Given the description of an element on the screen output the (x, y) to click on. 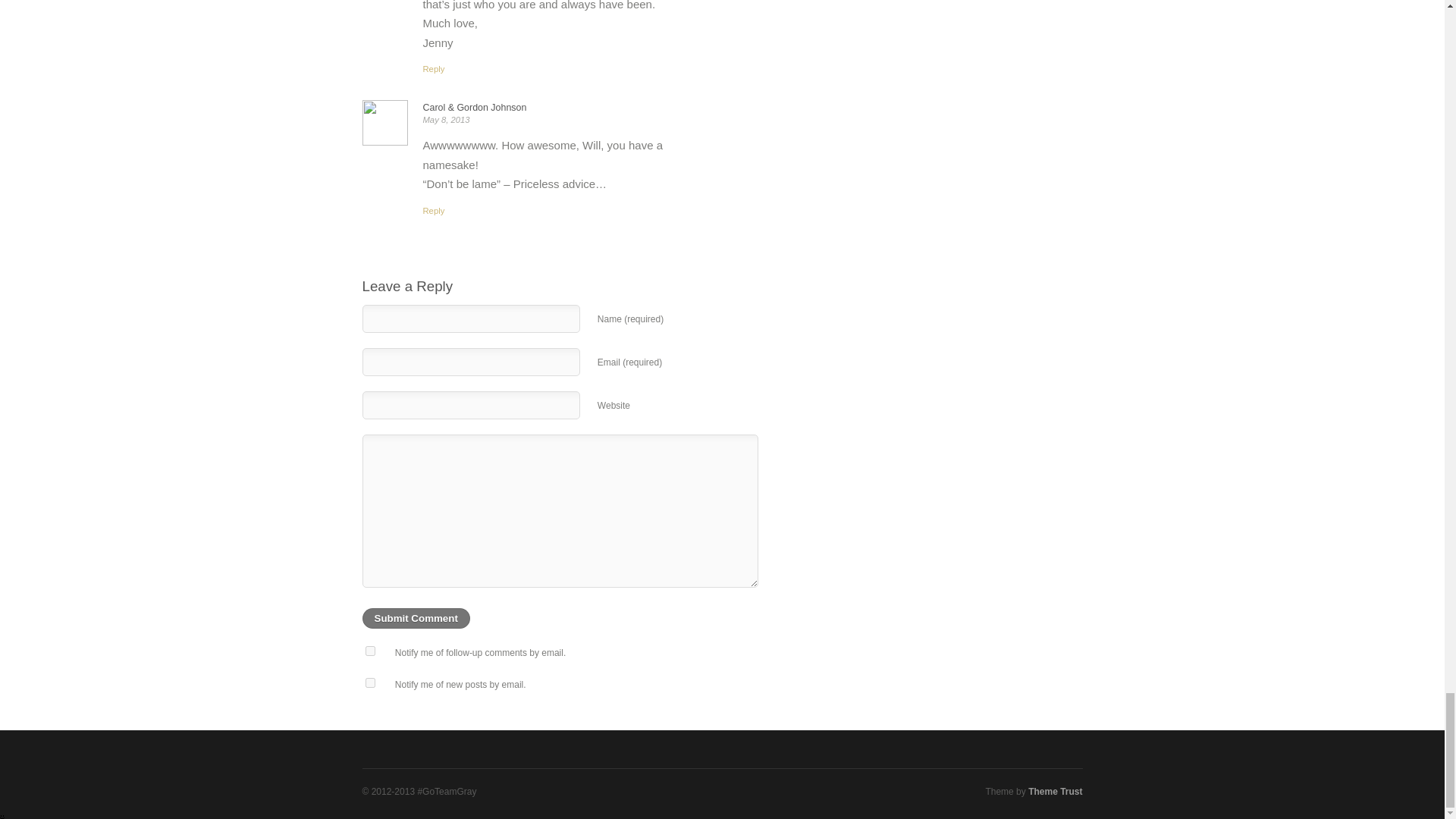
Reply (434, 210)
Premium WordPress Themes (1054, 791)
Reply (434, 68)
Submit Comment (416, 618)
subscribe (370, 651)
subscribe (370, 682)
Submit Comment (416, 618)
